Given the description of an element on the screen output the (x, y) to click on. 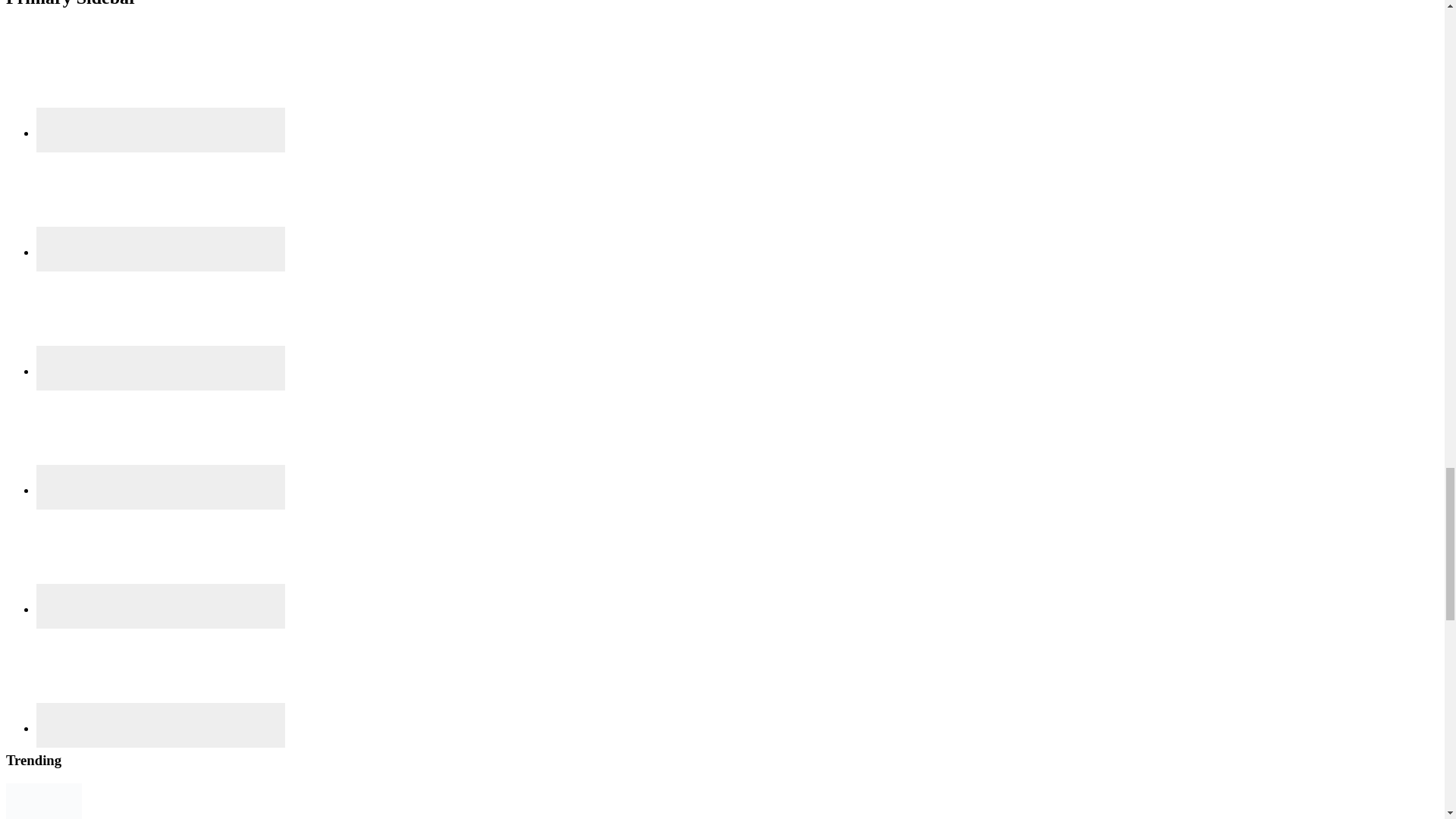
YouTube (160, 675)
GitHub (160, 199)
Instagram (160, 318)
Pinterest (160, 437)
Facebook (160, 80)
Twitter (160, 556)
